Given the description of an element on the screen output the (x, y) to click on. 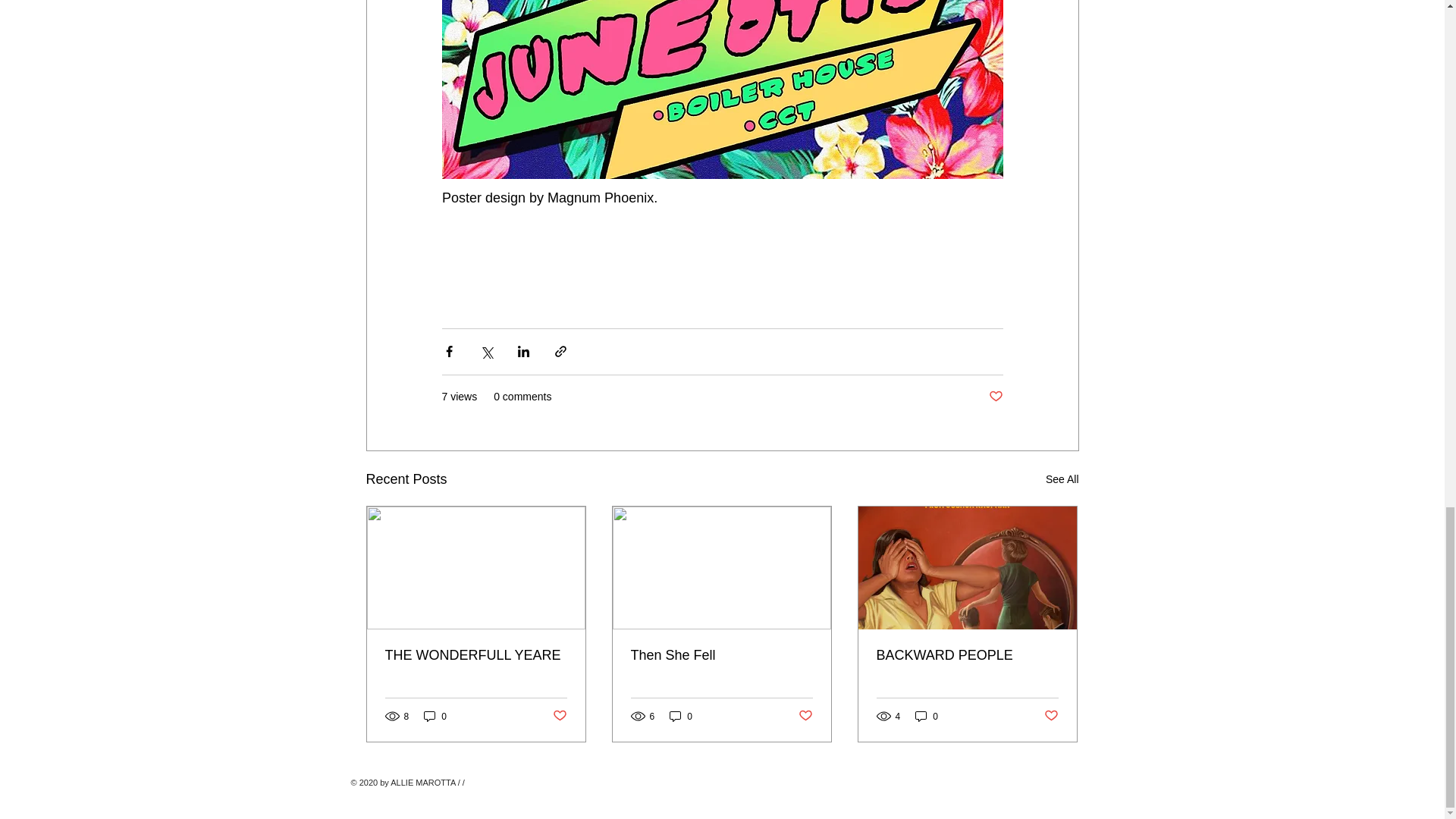
0 (681, 716)
Post not marked as liked (558, 715)
Post not marked as liked (1050, 715)
Post not marked as liked (995, 396)
Post not marked as liked (804, 715)
THE WONDERFULL YEARE (476, 655)
0 (435, 716)
See All (1061, 479)
0 (926, 716)
Then She Fell (721, 655)
